Given the description of an element on the screen output the (x, y) to click on. 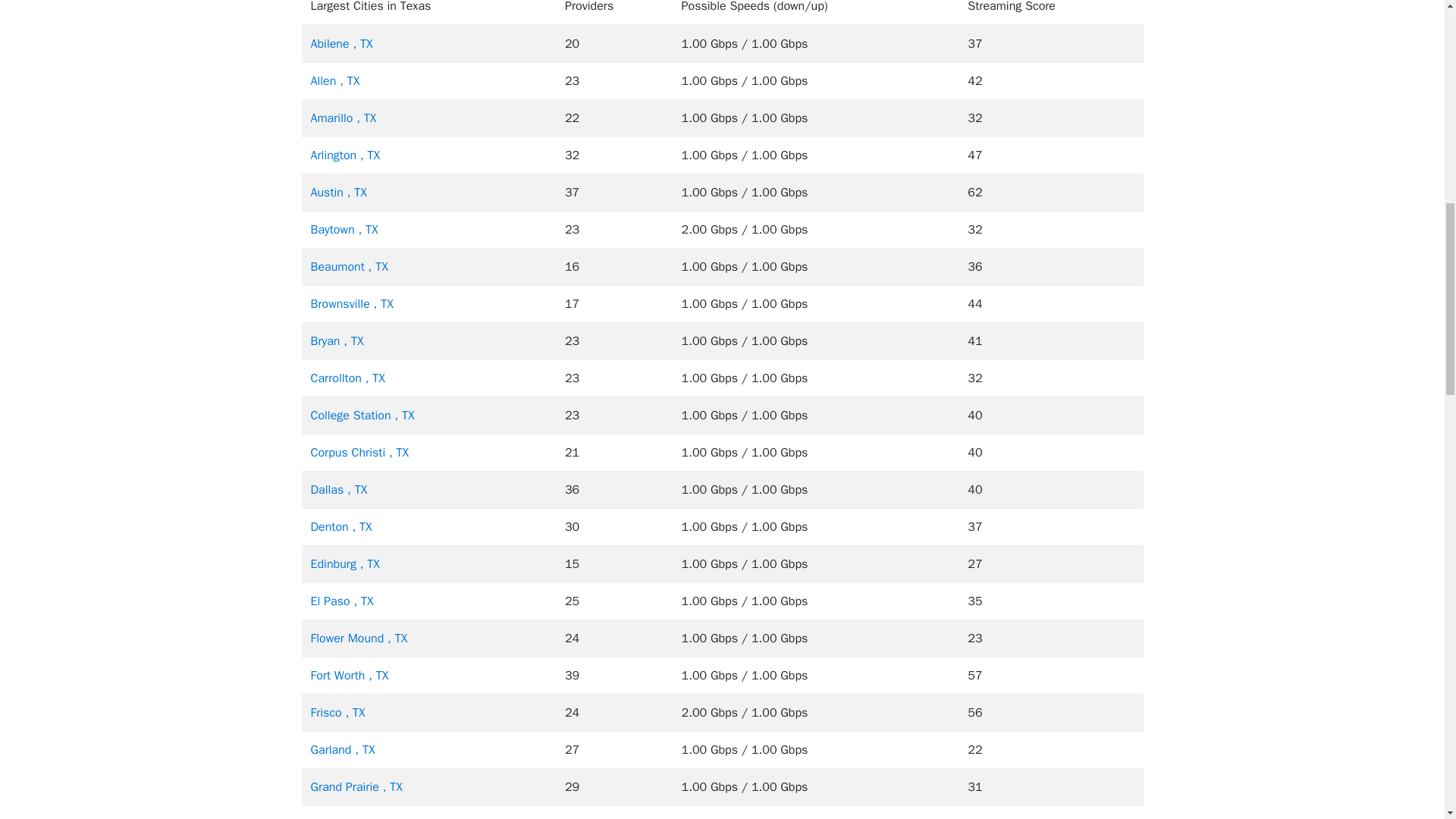
College Station , TX (362, 415)
Bryan , TX (337, 340)
Garland , TX (343, 749)
Arlington , TX (345, 155)
Brownsville , TX (352, 304)
Baytown , TX (344, 229)
Denton , TX (341, 526)
Amarillo , TX (344, 118)
Harlingen , TX (347, 817)
Allen , TX (335, 80)
Dallas , TX (339, 489)
El Paso , TX (342, 601)
Edinburg , TX (345, 563)
Austin , TX (338, 192)
Flower Mound , TX (359, 638)
